Given the description of an element on the screen output the (x, y) to click on. 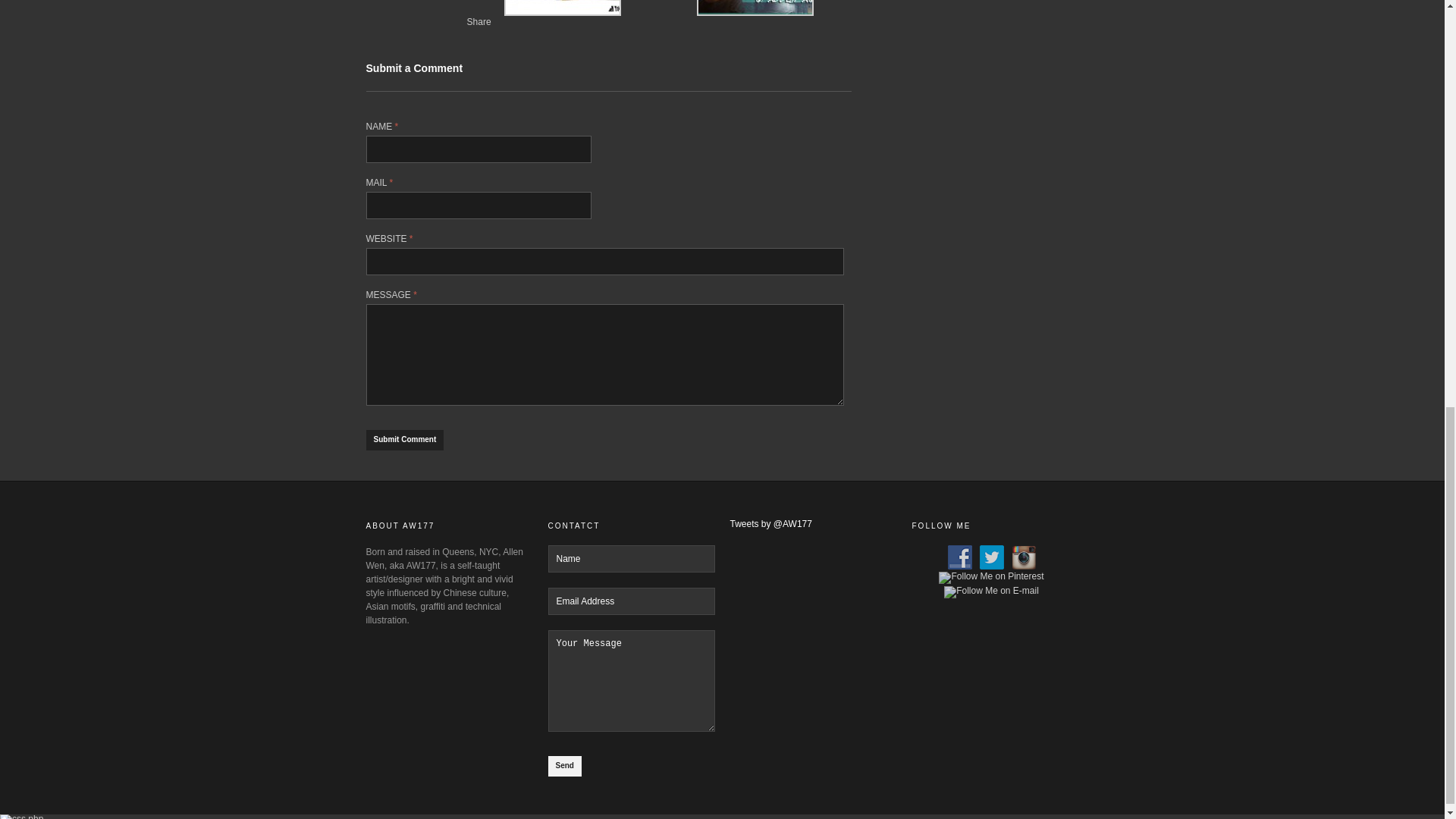
Name (630, 558)
Facebook (491, 34)
Send (563, 765)
Email Address (630, 601)
Submit Comment (404, 439)
Twitter (474, 34)
